Given the description of an element on the screen output the (x, y) to click on. 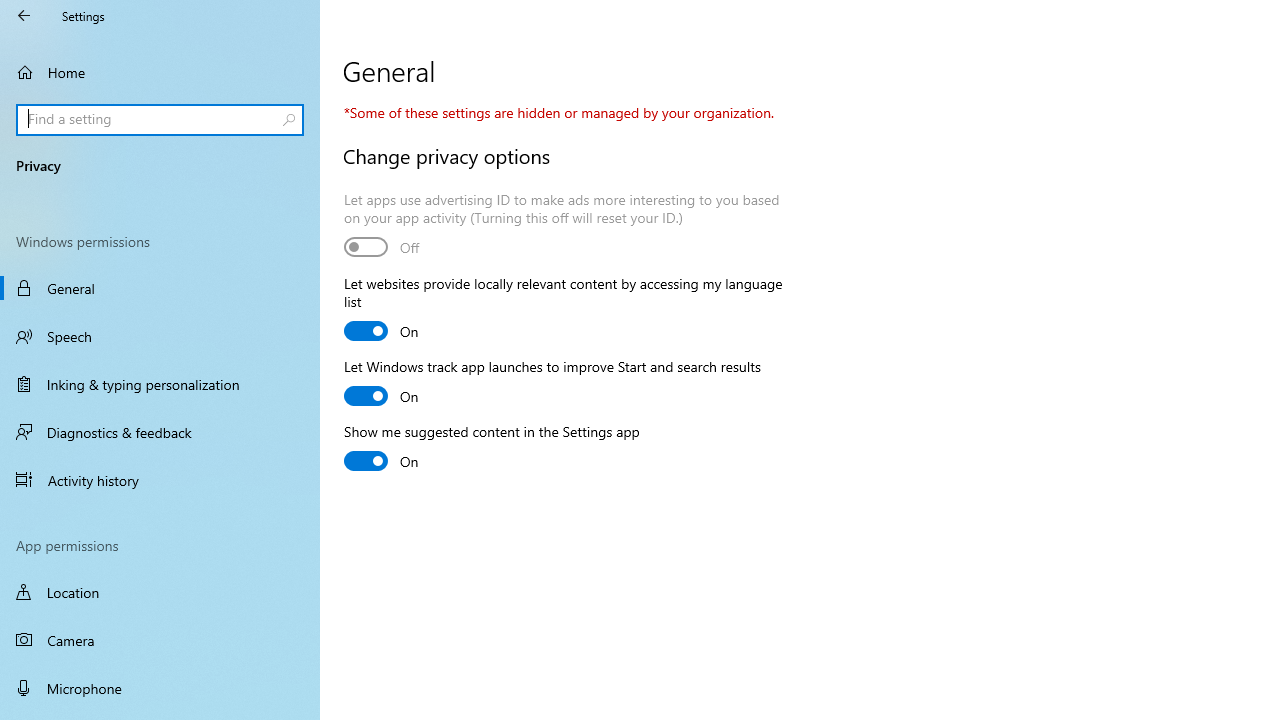
Inking & typing personalization (160, 384)
Diagnostics & feedback (160, 431)
Location (160, 592)
Camera (160, 639)
General (160, 287)
Activity history (160, 479)
Microphone (160, 687)
Show me suggested content in the Settings app (492, 448)
Speech (160, 335)
